Given the description of an element on the screen output the (x, y) to click on. 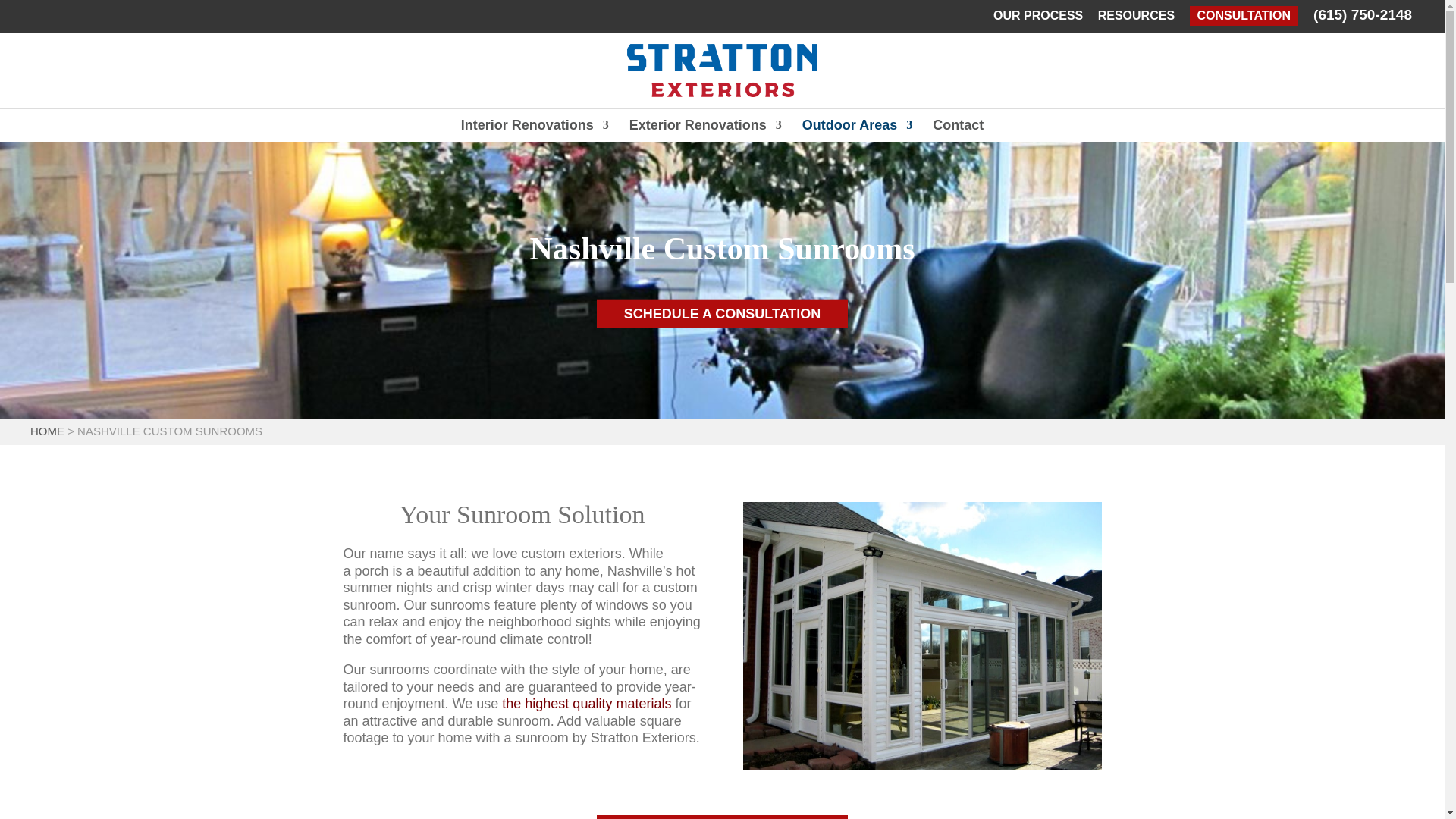
Interior Renovations (534, 124)
Outdoor Areas (857, 124)
Sunroom Builder in Nashville (922, 636)
OUR PROCESS (1037, 20)
Contact (958, 124)
SCHEDULE A CONSULTATION (722, 313)
Exterior Renovations (704, 124)
CONSULTATION (1243, 15)
RESOURCES (1135, 20)
